Given the description of an element on the screen output the (x, y) to click on. 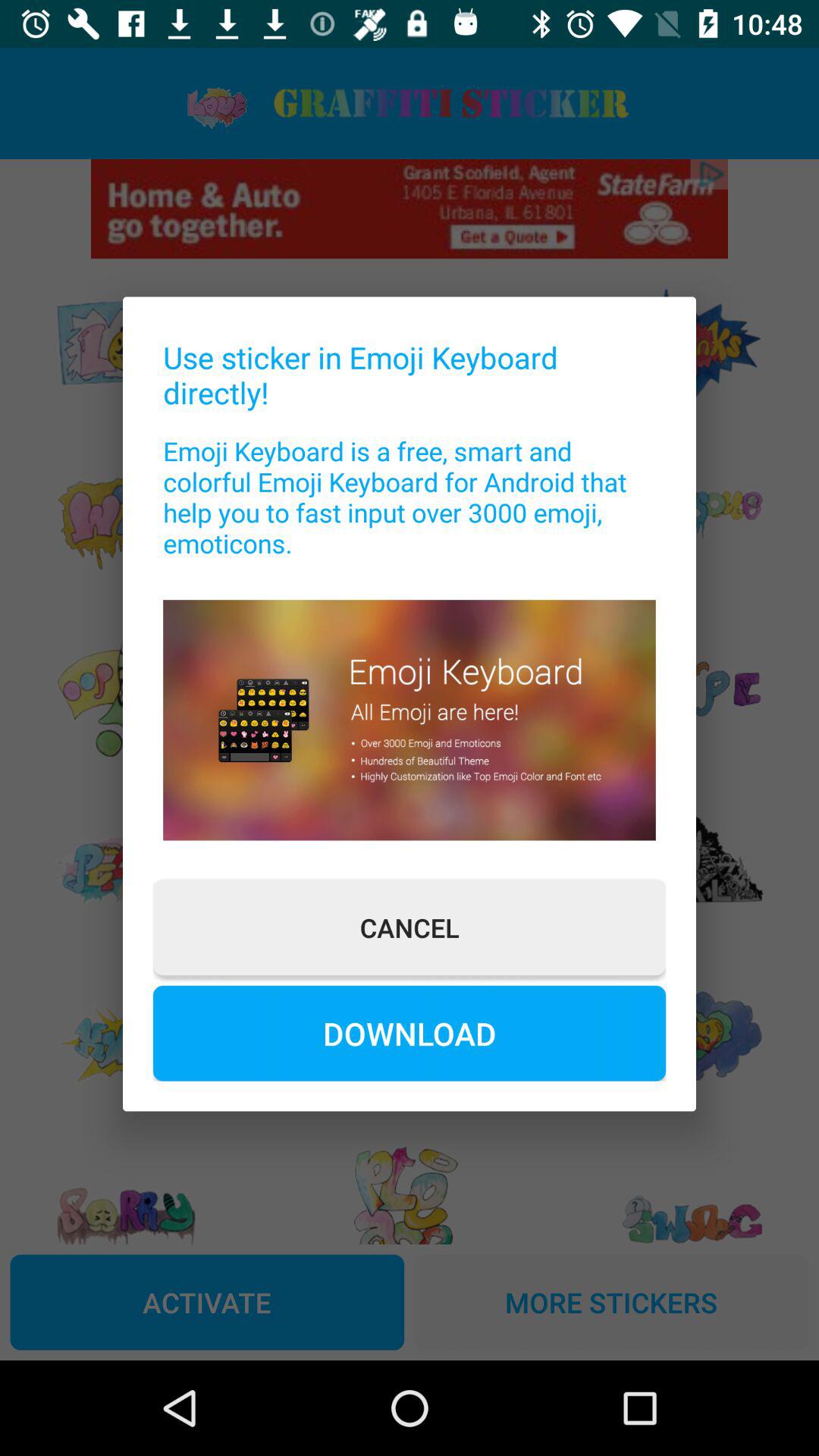
click icon below the cancel icon (409, 1033)
